Given the description of an element on the screen output the (x, y) to click on. 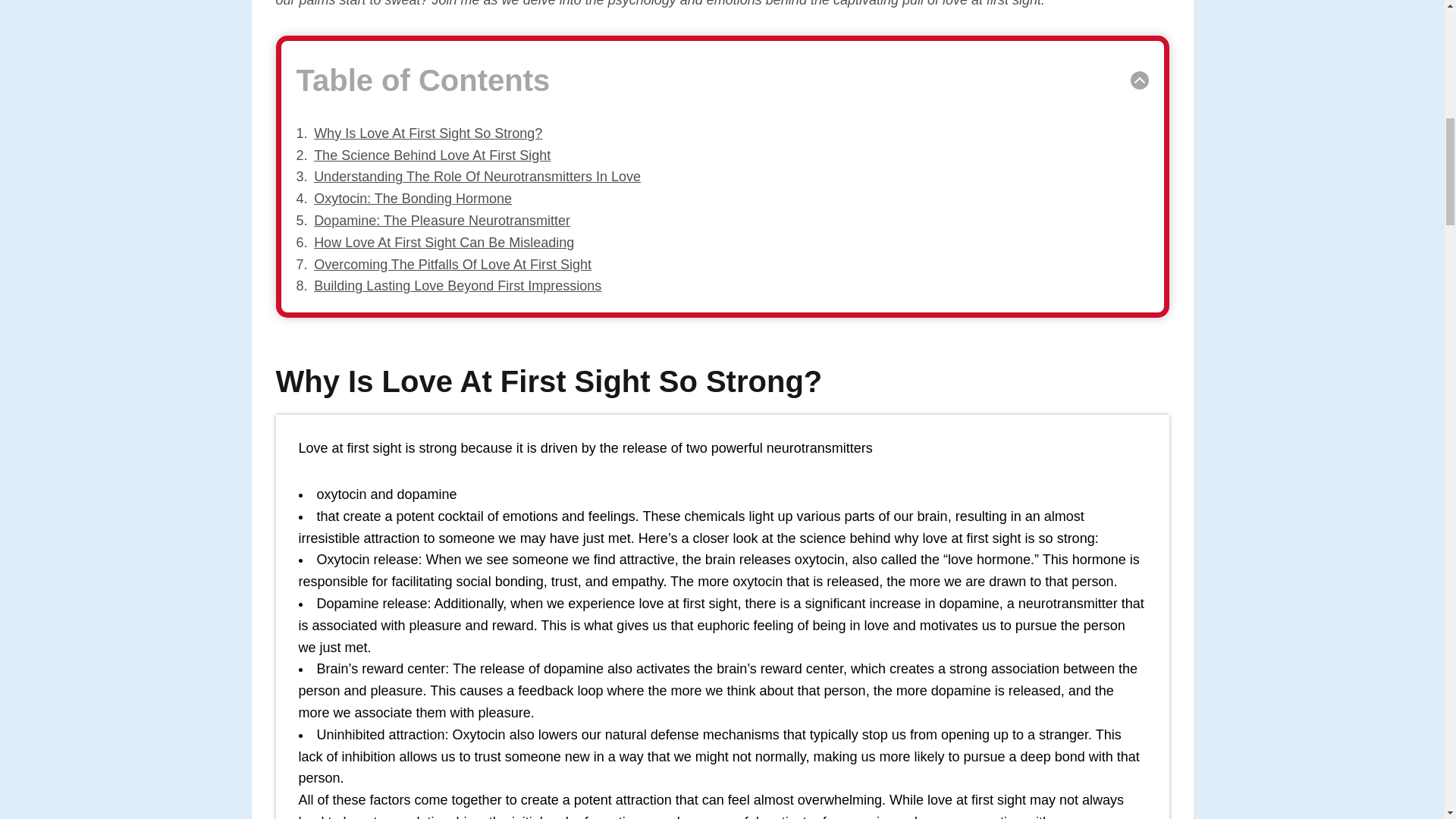
Oxytocin: The Bonding Hormone (413, 198)
Why Is Love At First Sight So Strong? (427, 133)
Building Lasting Love Beyond First Impressions (457, 285)
Table of Contents (721, 80)
Understanding The Role Of Neurotransmitters In Love (477, 176)
Dopamine: The Pleasure Neurotransmitter (442, 220)
How Love At First Sight Can Be Misleading (443, 242)
Overcoming The Pitfalls Of Love At First Sight (452, 264)
The Science Behind Love At First Sight (432, 155)
